Given the description of an element on the screen output the (x, y) to click on. 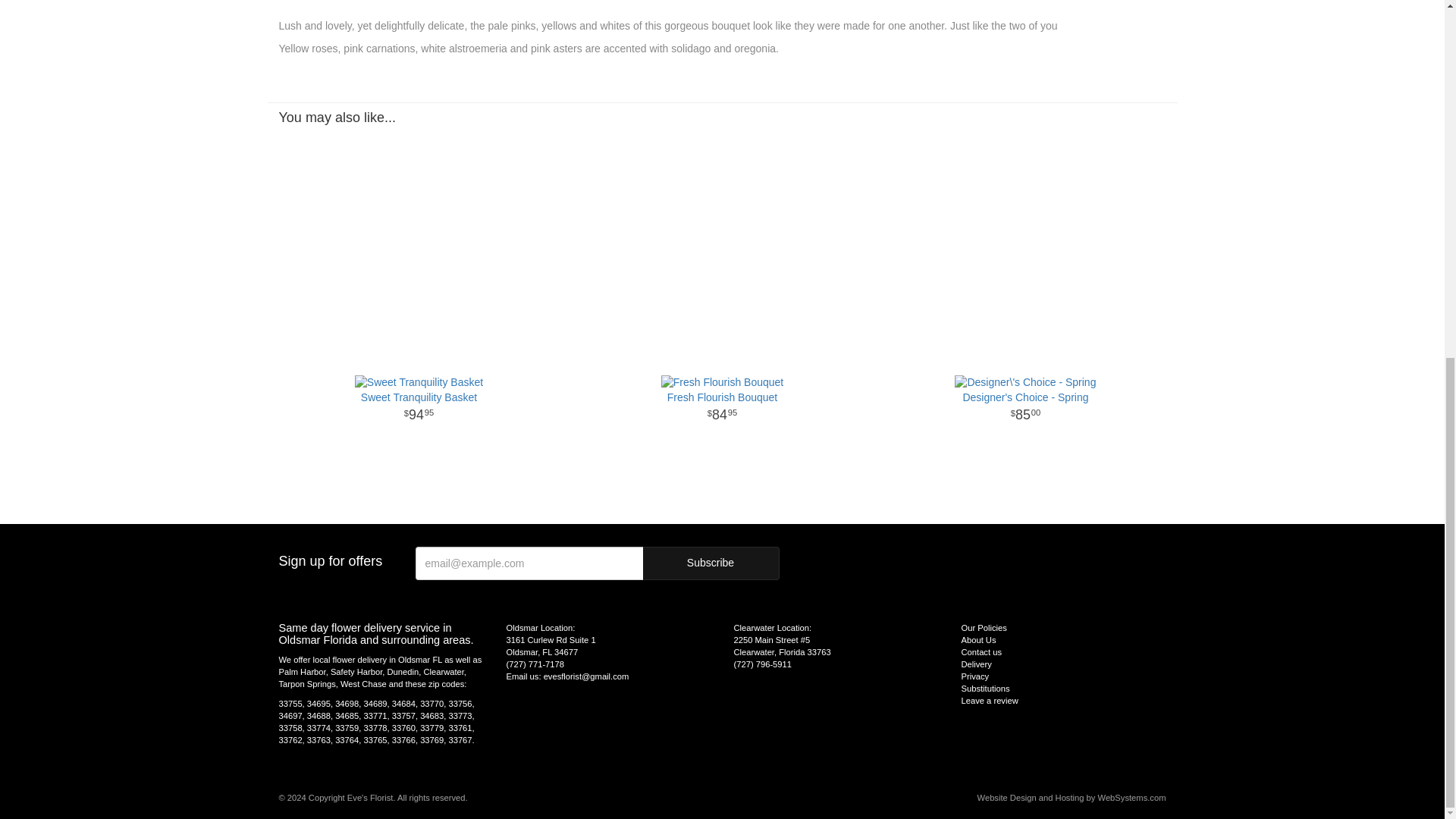
Contact us (980, 651)
Subscribe (1025, 408)
Delivery (710, 563)
Subscribe (975, 664)
Substitutions (710, 563)
Privacy (985, 687)
About Us (419, 408)
